Given the description of an element on the screen output the (x, y) to click on. 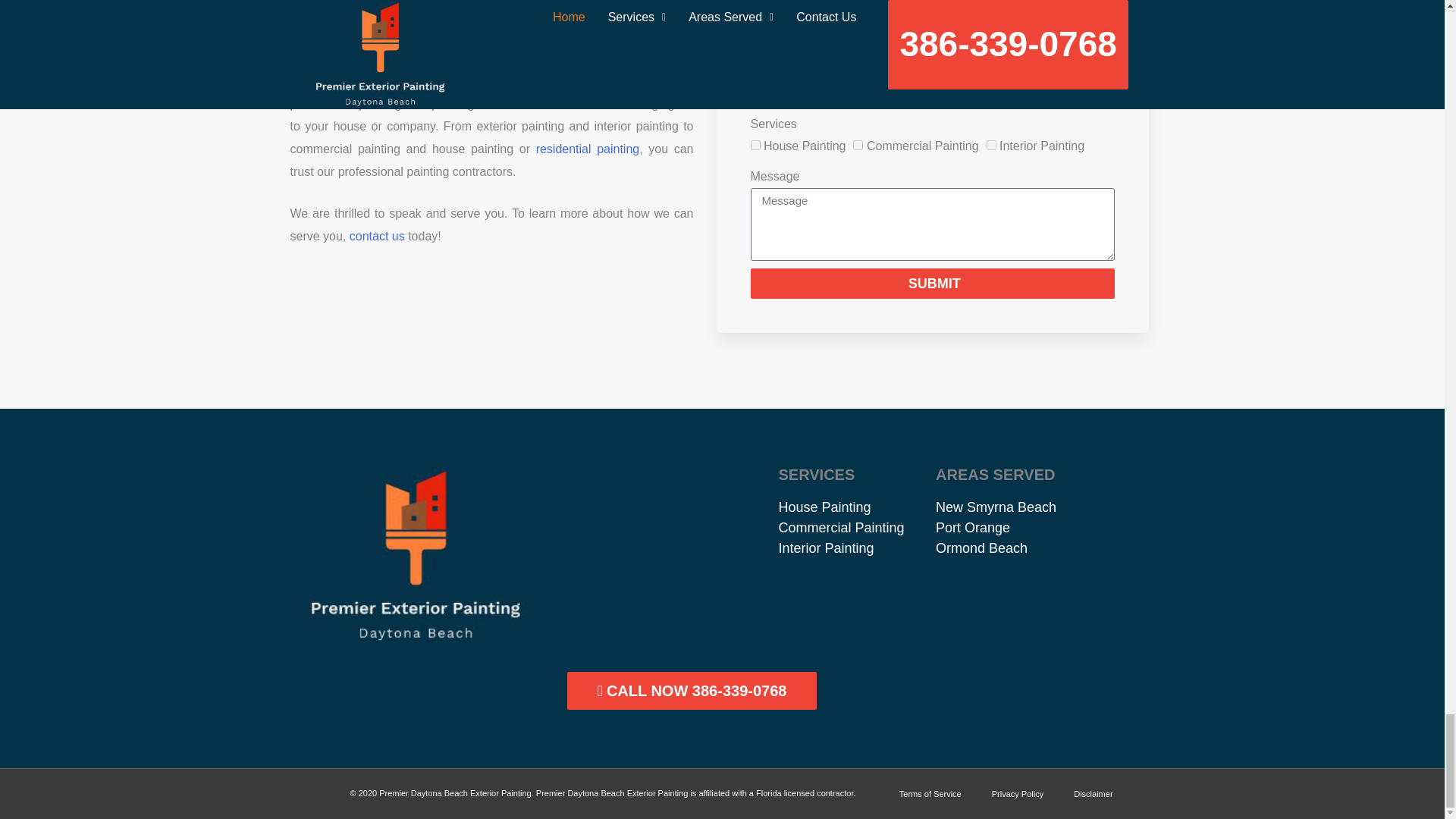
Commercial Painting  (858, 144)
Interior Painting (991, 144)
House Painting (755, 144)
Daytona Beach, FL, USA (651, 542)
